Given the description of an element on the screen output the (x, y) to click on. 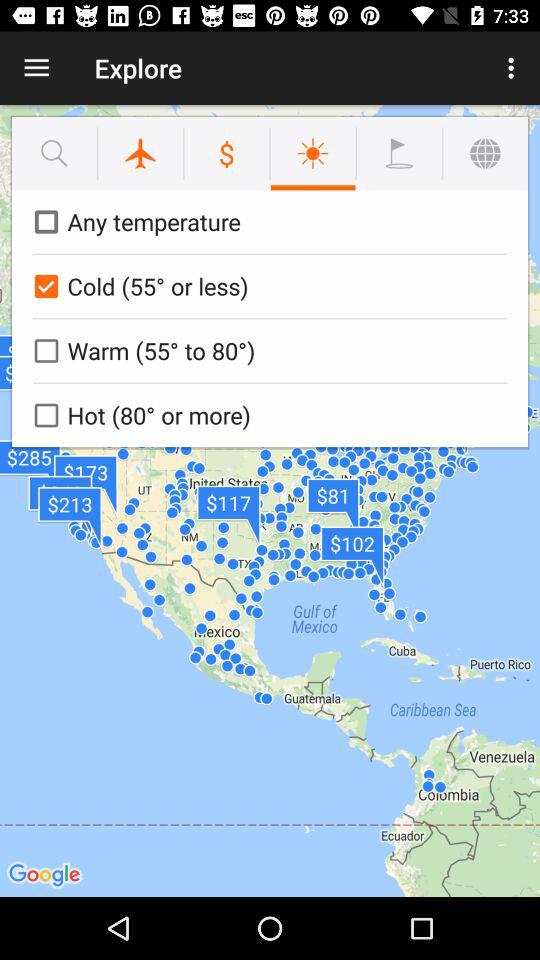
tap icon next to the explore (513, 67)
